Given the description of an element on the screen output the (x, y) to click on. 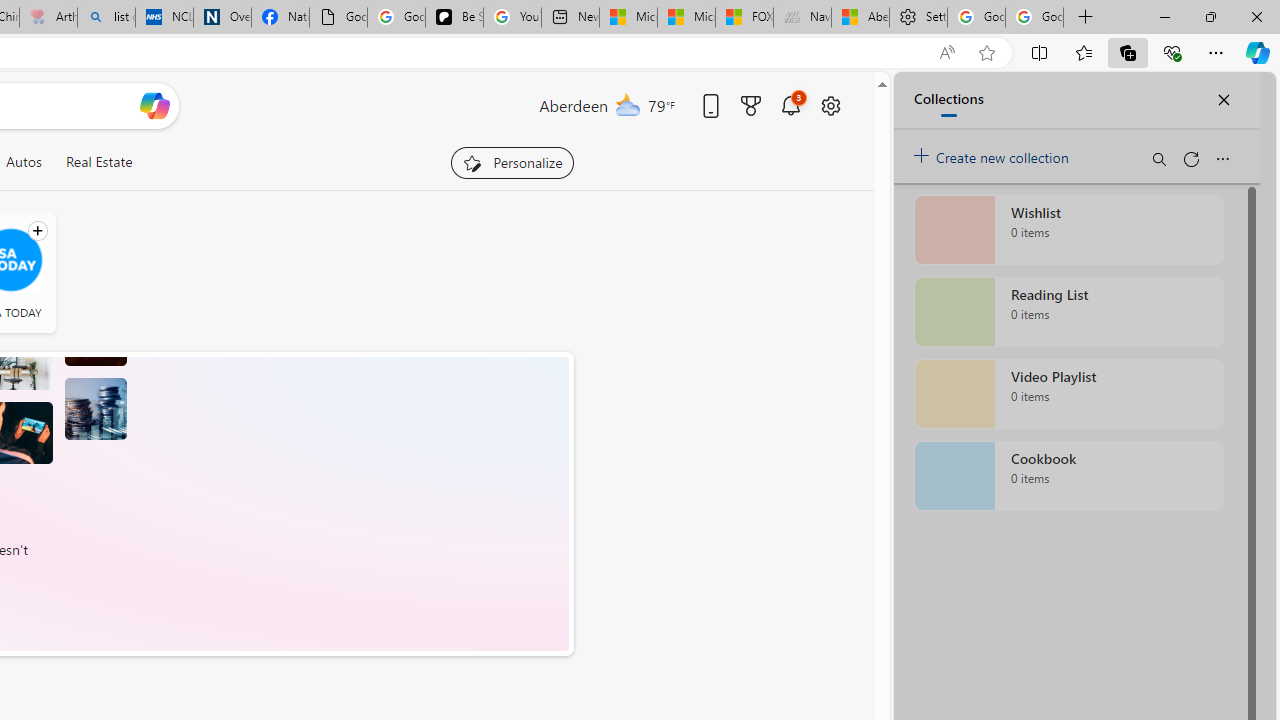
Personalize your feed" (511, 162)
FOX News - MSN (744, 17)
Be Smart | creating Science videos | Patreon (454, 17)
